Given the description of an element on the screen output the (x, y) to click on. 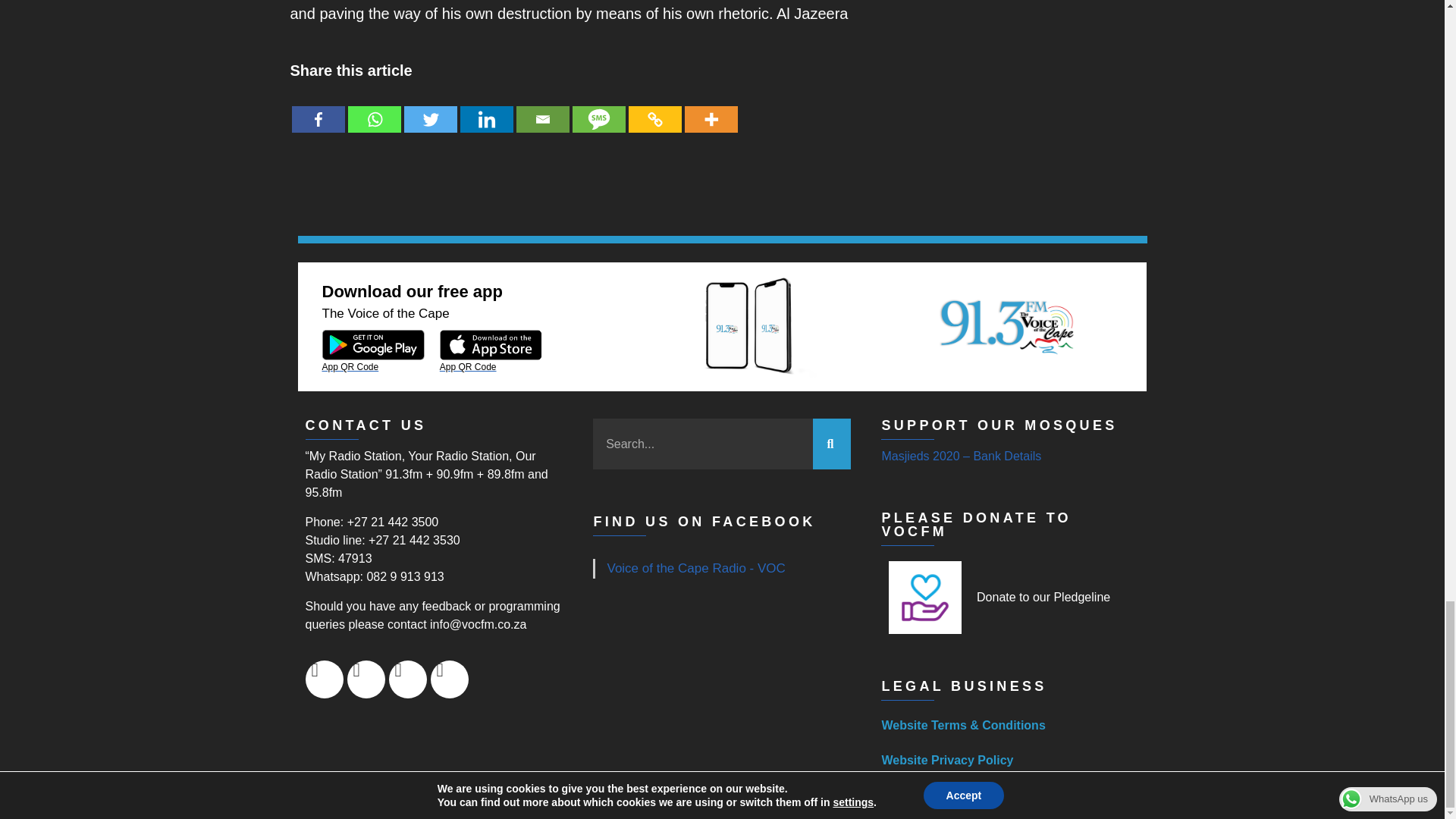
Whatsapp (373, 108)
Facebook (317, 108)
Twitter (430, 108)
Linkedin (486, 108)
Email (542, 108)
